Given the description of an element on the screen output the (x, y) to click on. 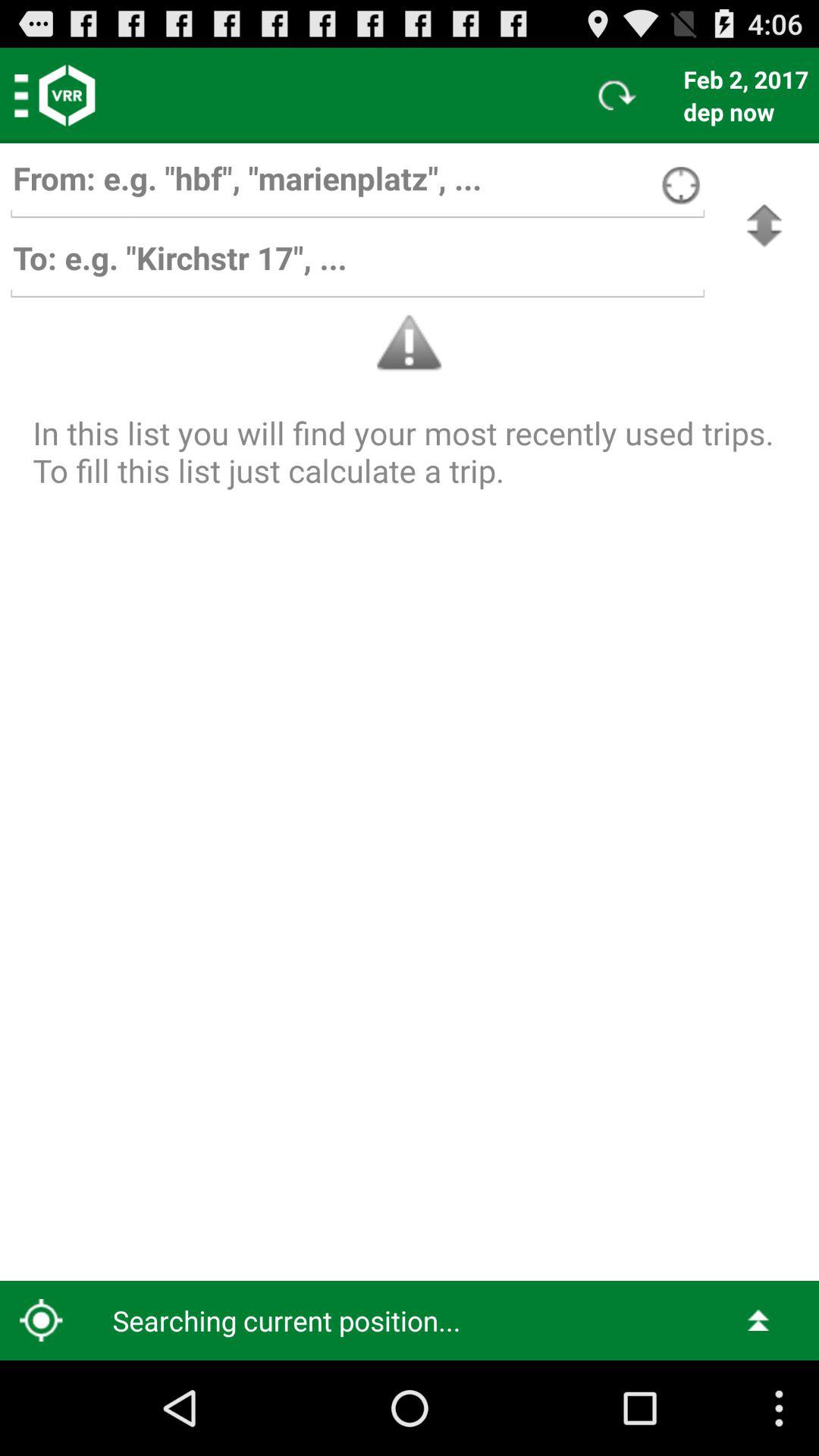
click on the caution icon  (409, 343)
click on refresh icon at top (617, 95)
logo above first text field in the page (67, 95)
